Given the description of an element on the screen output the (x, y) to click on. 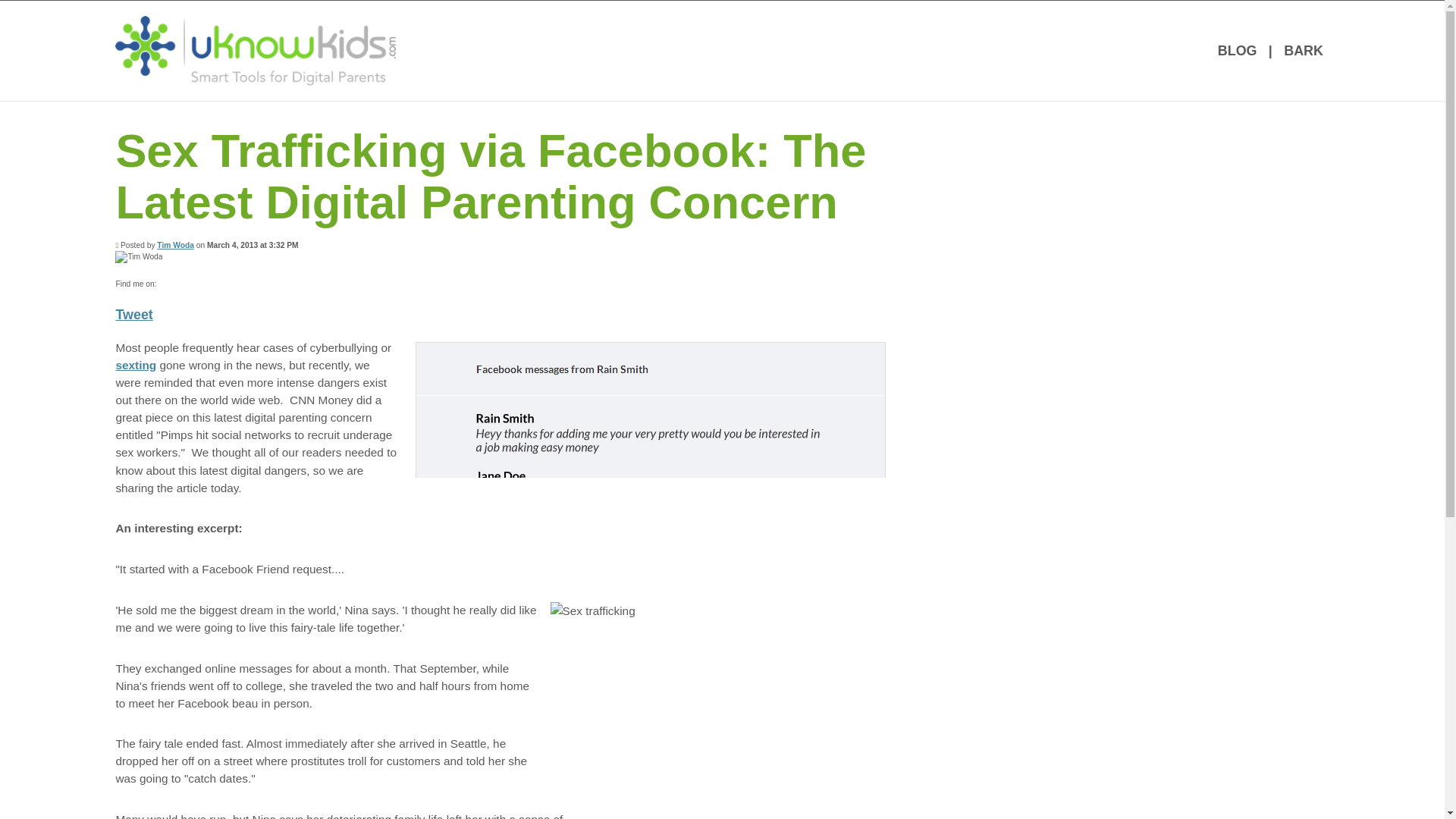
LinkedIn (187, 284)
Tim Woda (175, 244)
Sex trafficking (719, 689)
uKnowKids - Smart Tools for Digital Parents (254, 50)
BLOG (1236, 50)
Facebook (167, 284)
sexting (135, 364)
Tweet (133, 314)
Twitter (207, 284)
BARK (1303, 50)
